Given the description of an element on the screen output the (x, y) to click on. 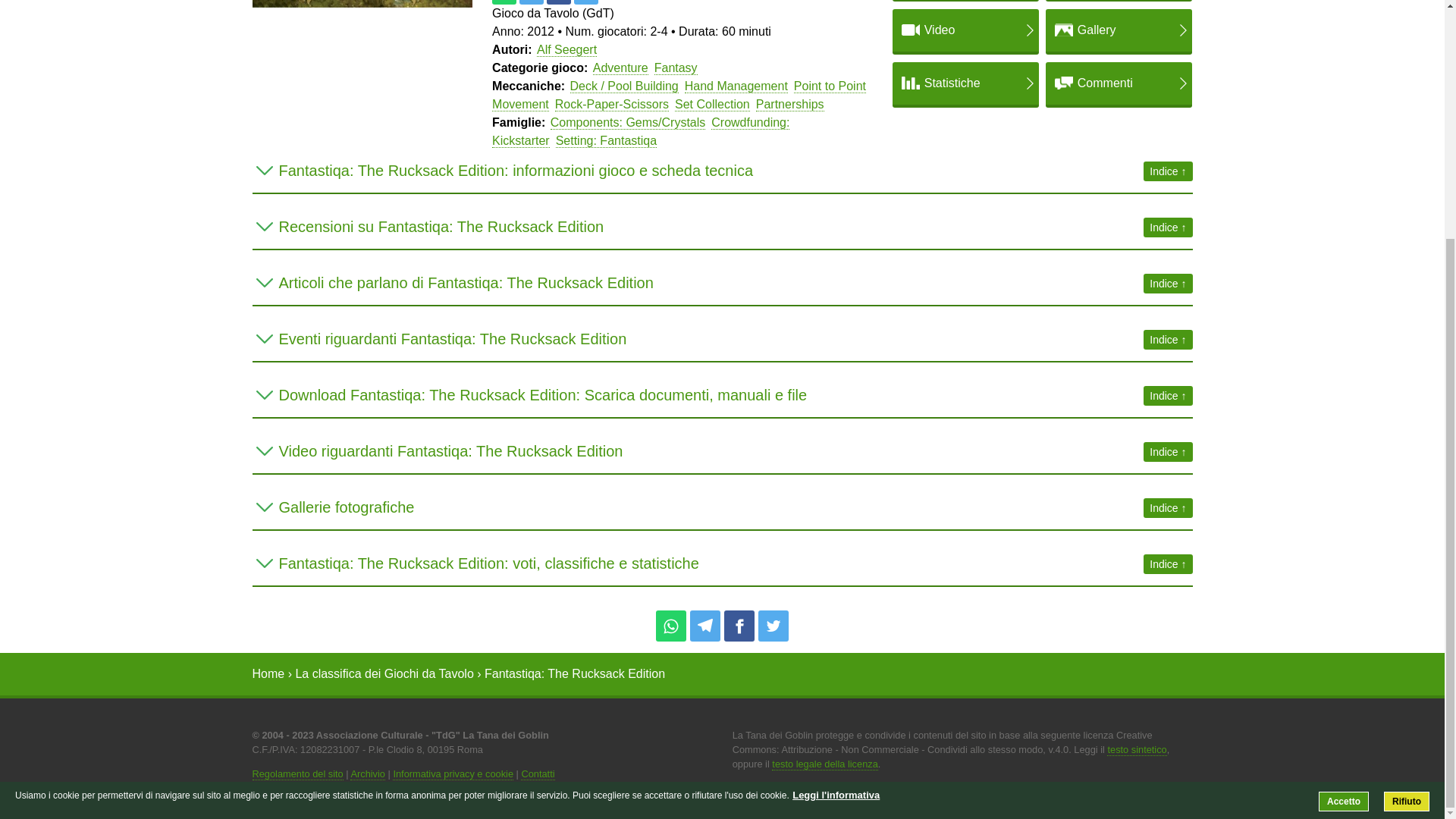
Creazione siti Web Vicenza (1176, 798)
Fantastiqa: The Rucksack Edition (574, 673)
La Tana dei Goblin Facebook (384, 802)
Video (965, 30)
Fantastiqa: The Rucksack Edition (361, 4)
Statistiche (965, 83)
Licenza Creative Commons 4.0 (1136, 749)
Commenti (1118, 83)
Point to Point Movement (679, 95)
La Tana dei Goblin Twitter (405, 802)
Rock-Paper-Scissors (611, 104)
La Tana dei Goblin Youtube (426, 802)
Setting: Fantastiqa (606, 141)
Crowdfunding: Kickstarter (640, 132)
Gallery (1118, 30)
